Given the description of an element on the screen output the (x, y) to click on. 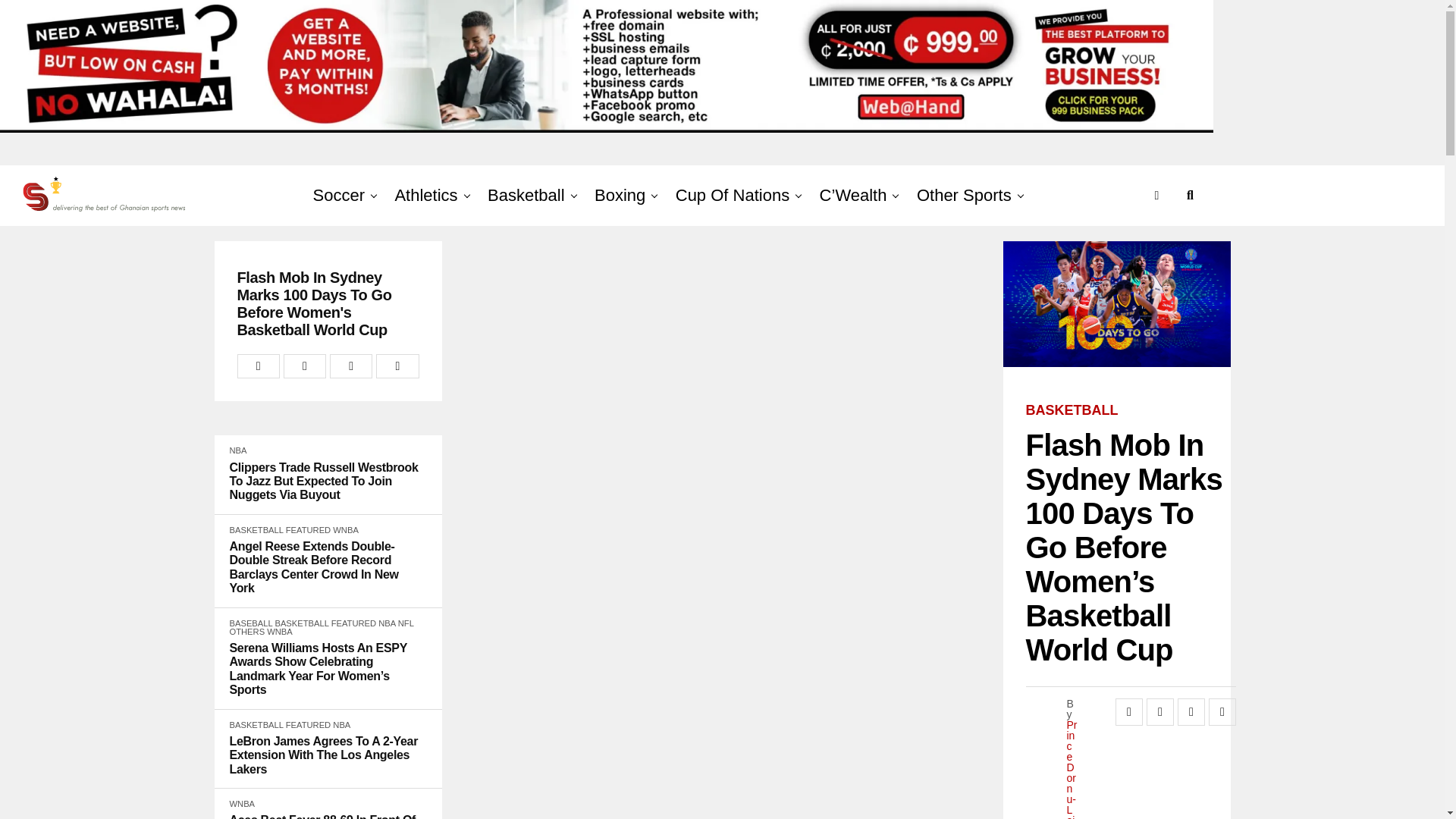
Boxing (619, 195)
Athletics (425, 195)
Tweet This Post (304, 365)
Basketball (526, 195)
Share on Flipboard (351, 365)
Soccer (342, 195)
Share on Facebook (257, 365)
